Given the description of an element on the screen output the (x, y) to click on. 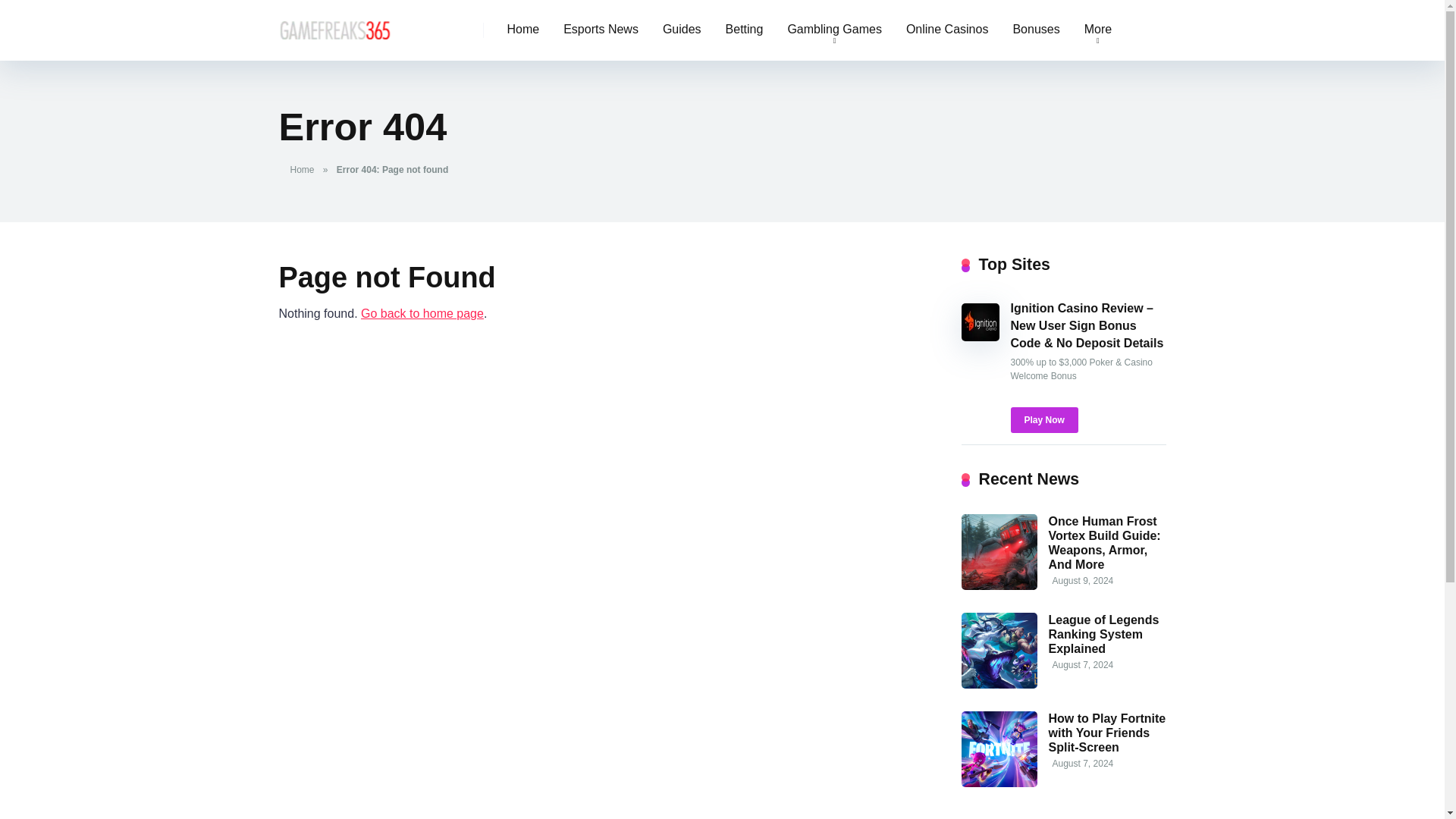
League of Legends Ranking System Explained (1103, 634)
Home (304, 169)
How to Play Fortnite with Your Friends Split-Screen (1107, 732)
Game Freaks 365 (422, 313)
Guides (681, 30)
Game Freaks 365 (335, 24)
Online Casinos (947, 30)
